Given the description of an element on the screen output the (x, y) to click on. 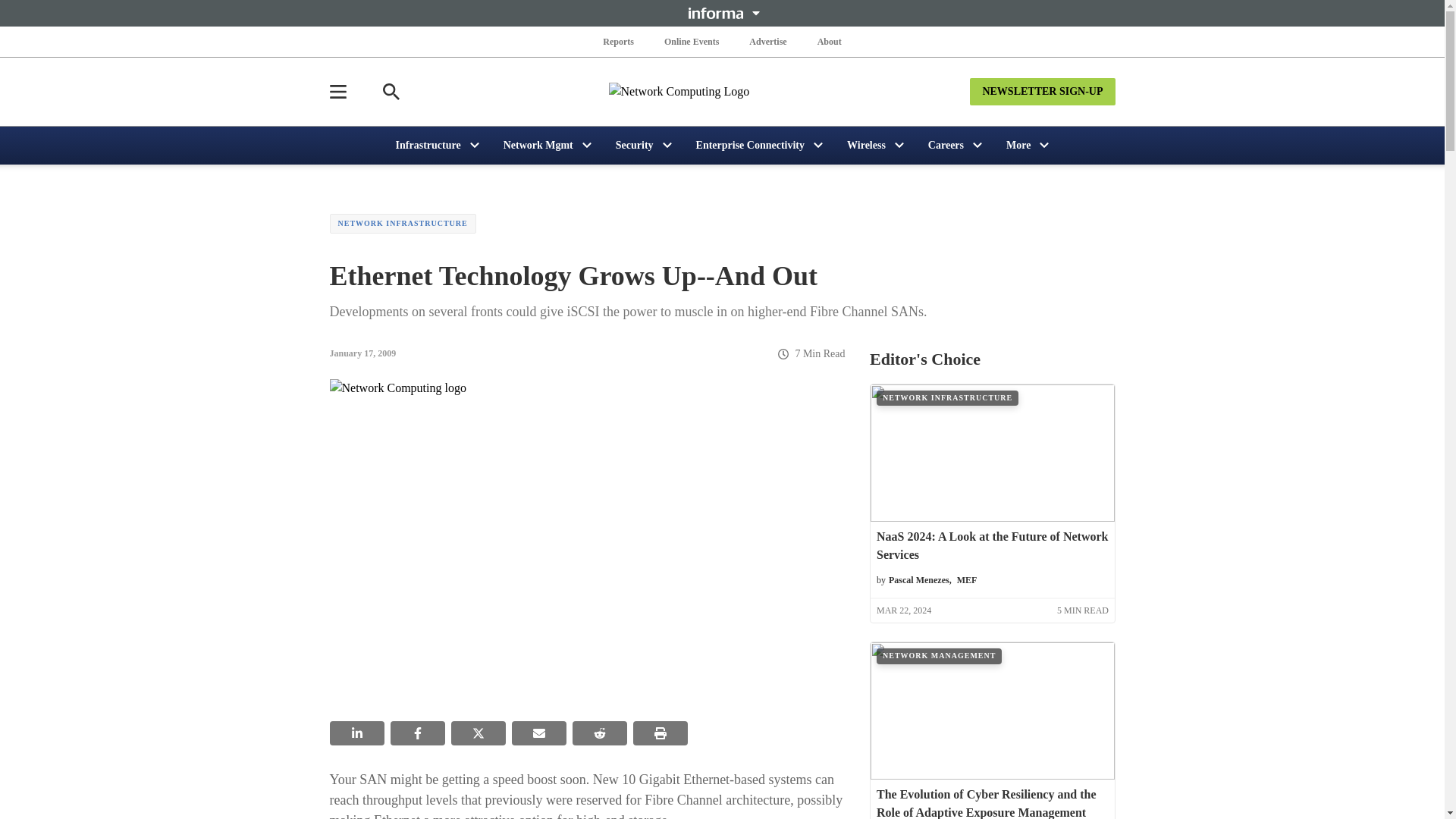
Online Events (691, 41)
NEWSLETTER SIGN-UP (1042, 90)
Advertise (767, 41)
About (828, 41)
Network Computing Logo (721, 91)
Reports (618, 41)
